Given the description of an element on the screen output the (x, y) to click on. 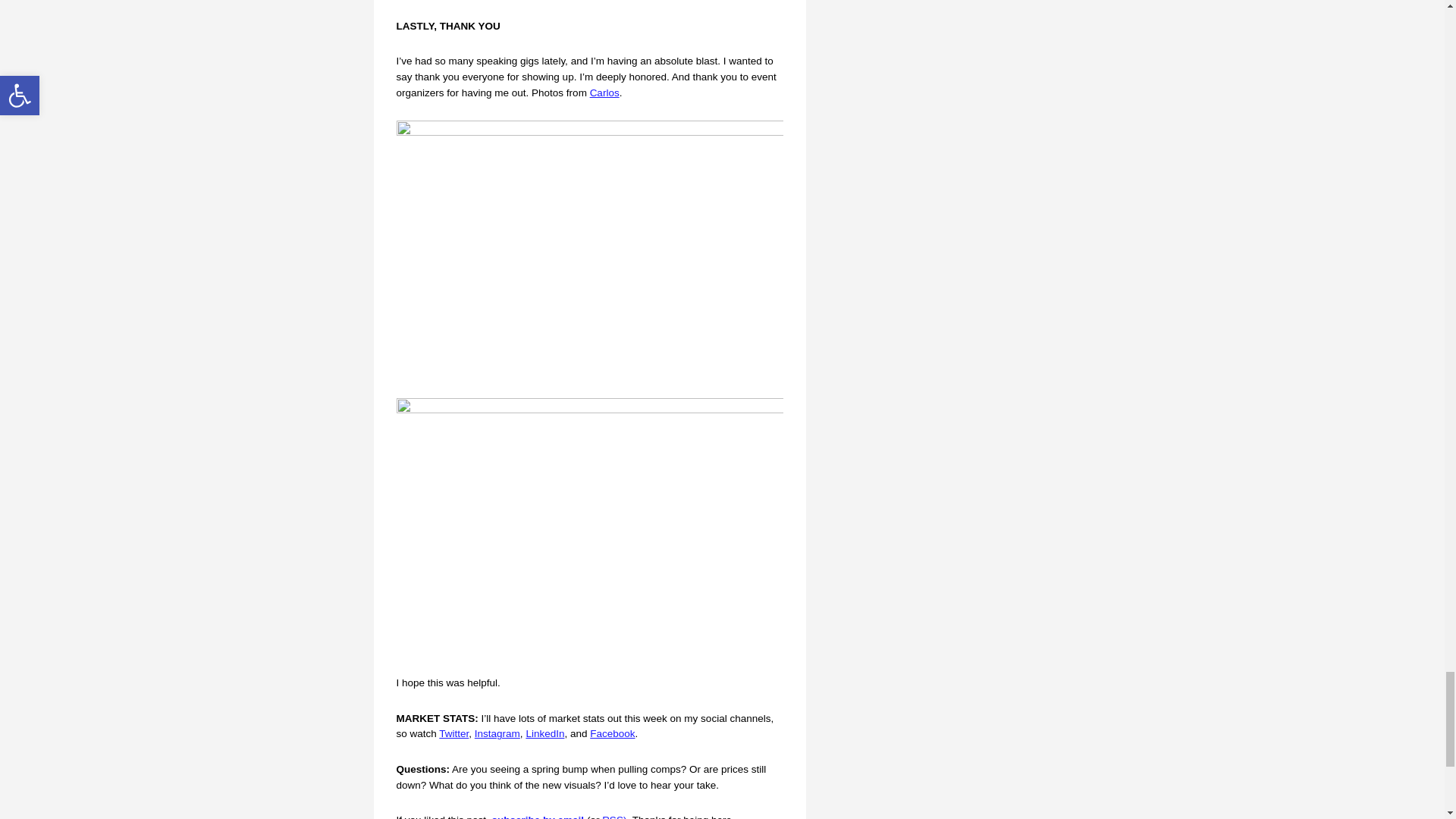
Facebook (611, 733)
LinkedIn (544, 733)
Instagram (496, 733)
Twitter (453, 733)
subscribe by email  (539, 816)
Subscribe to the Sacramento Appraisal Blog by RSS (615, 816)
Carlos (604, 92)
